Given the description of an element on the screen output the (x, y) to click on. 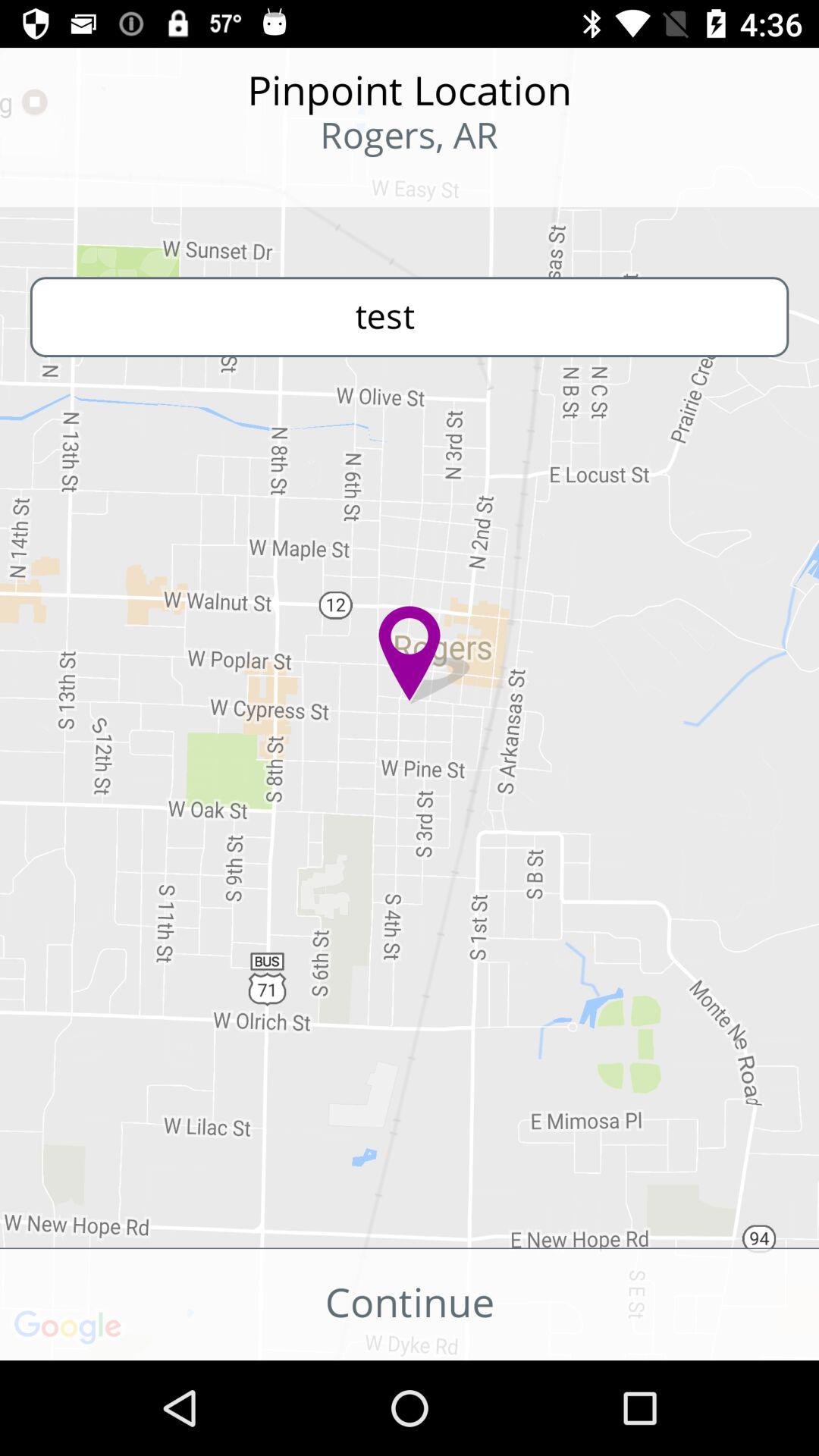
turn on the icon next to rogers, ar item (99, 182)
